Given the description of an element on the screen output the (x, y) to click on. 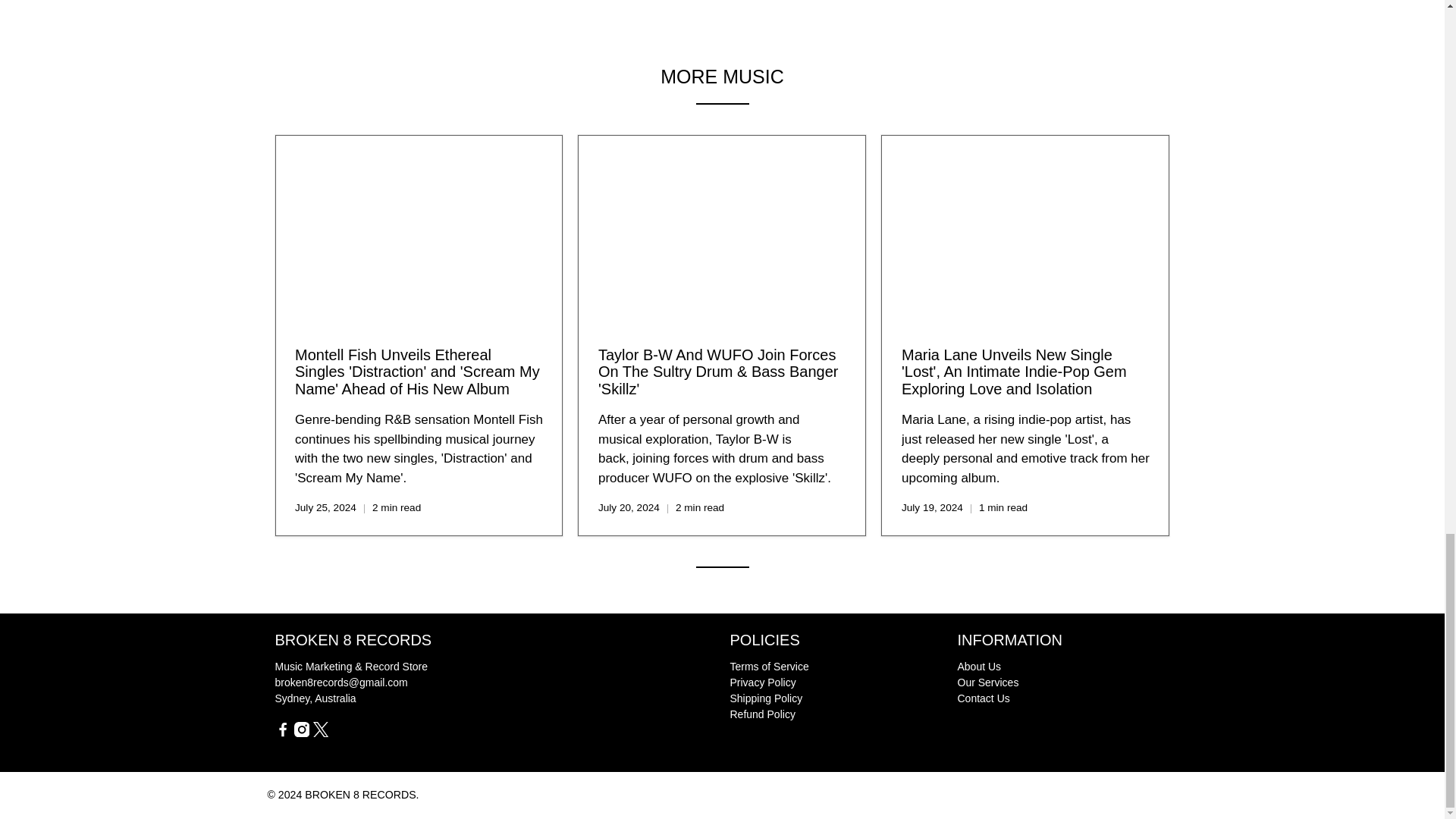
MORE MUSIC (722, 76)
